Given the description of an element on the screen output the (x, y) to click on. 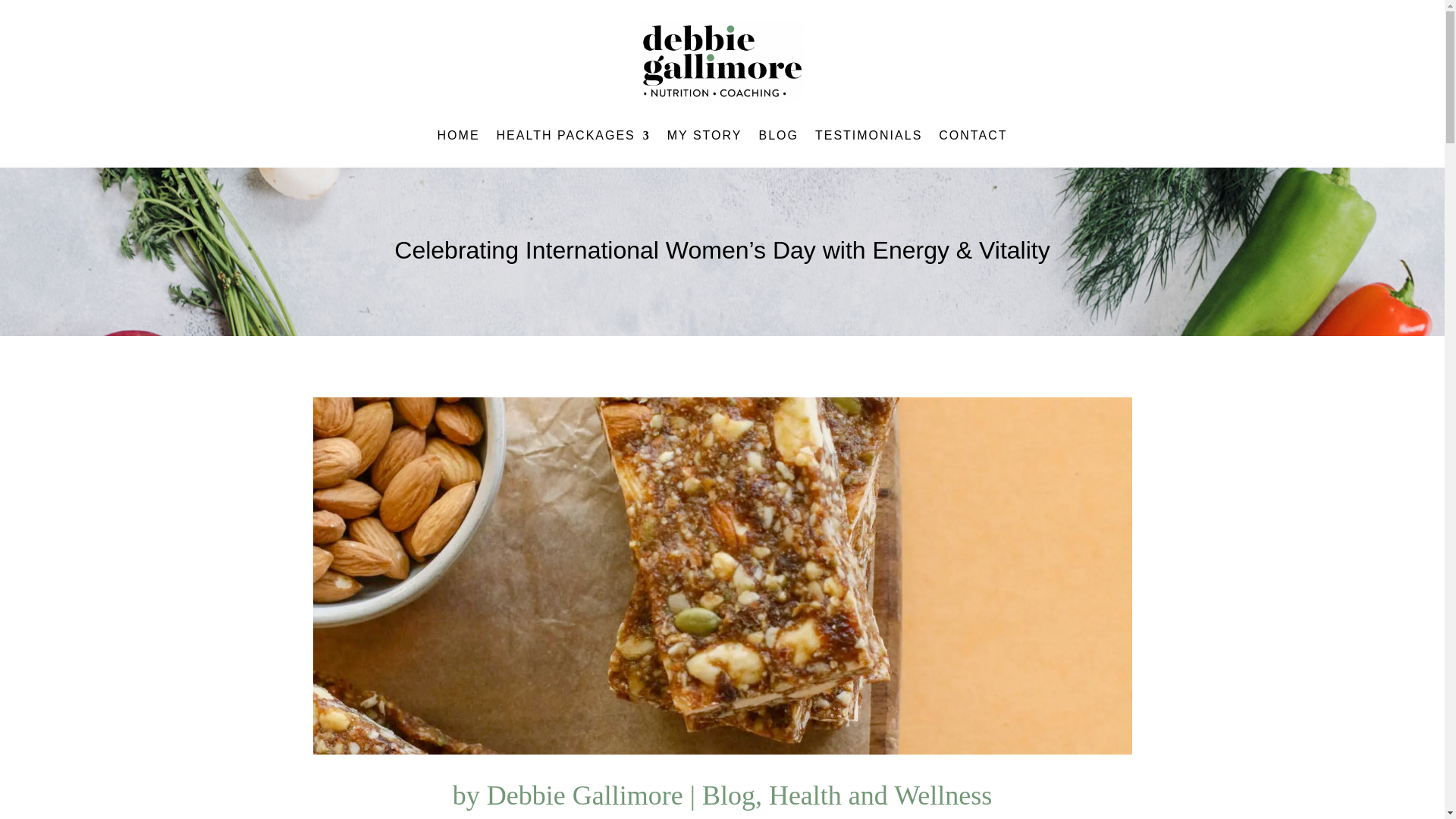
Debbie Gallimore Logo (721, 61)
Debbie Gallimore (584, 795)
BLOG (777, 138)
CONTACT (973, 138)
Health and Wellness (879, 795)
Posts by Debbie Gallimore (584, 795)
TESTIMONIALS (868, 138)
Blog (728, 795)
HEALTH PACKAGES (573, 138)
HOME (459, 138)
MY STORY (704, 138)
